Given the description of an element on the screen output the (x, y) to click on. 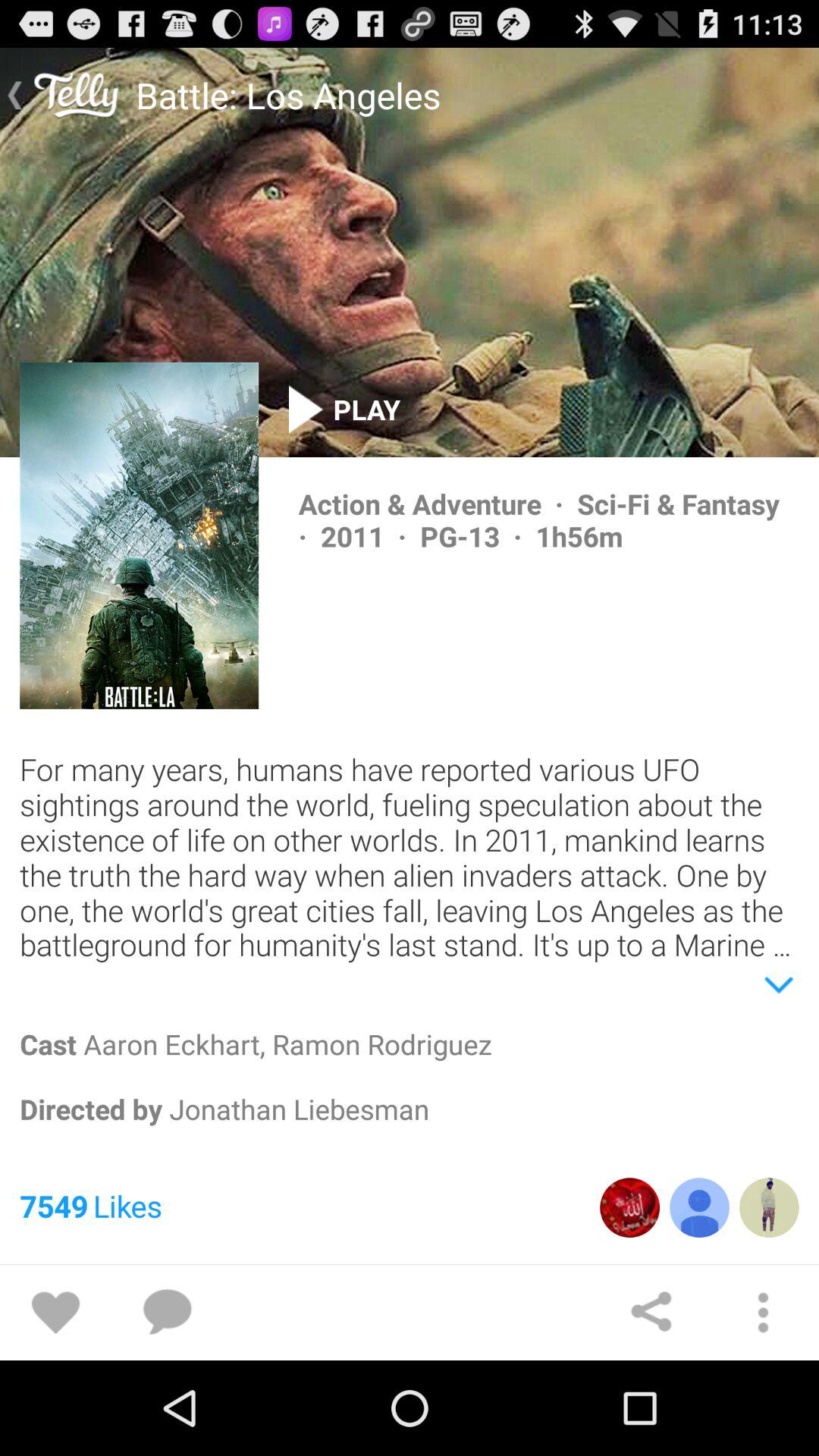
go to search option (763, 1312)
